Given the description of an element on the screen output the (x, y) to click on. 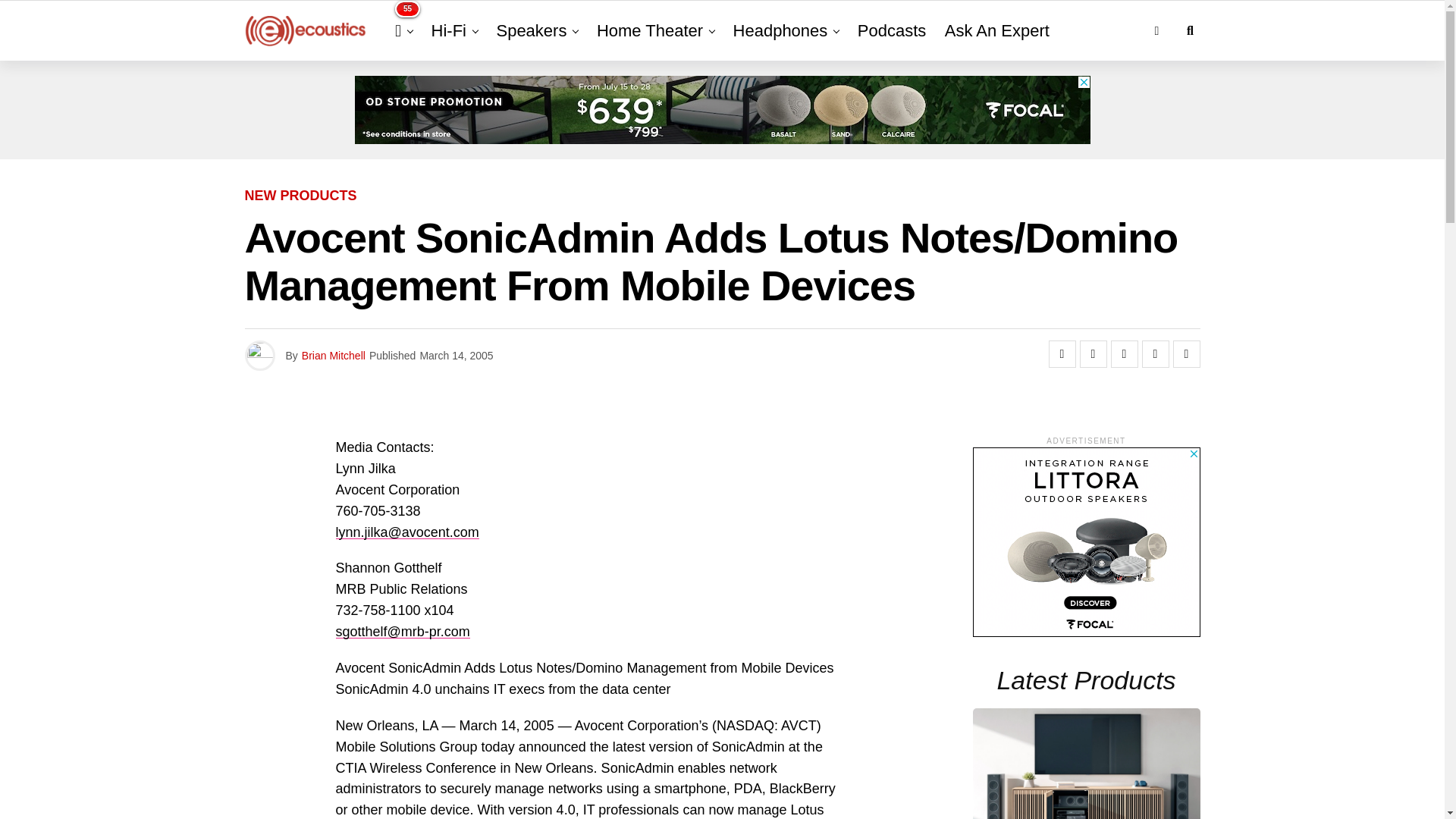
3rd party ad content (722, 110)
Posts by Brian Mitchell (333, 355)
Tweet This Post (1093, 353)
Share on Facebook (1061, 353)
3rd party ad content (1085, 542)
